Given the description of an element on the screen output the (x, y) to click on. 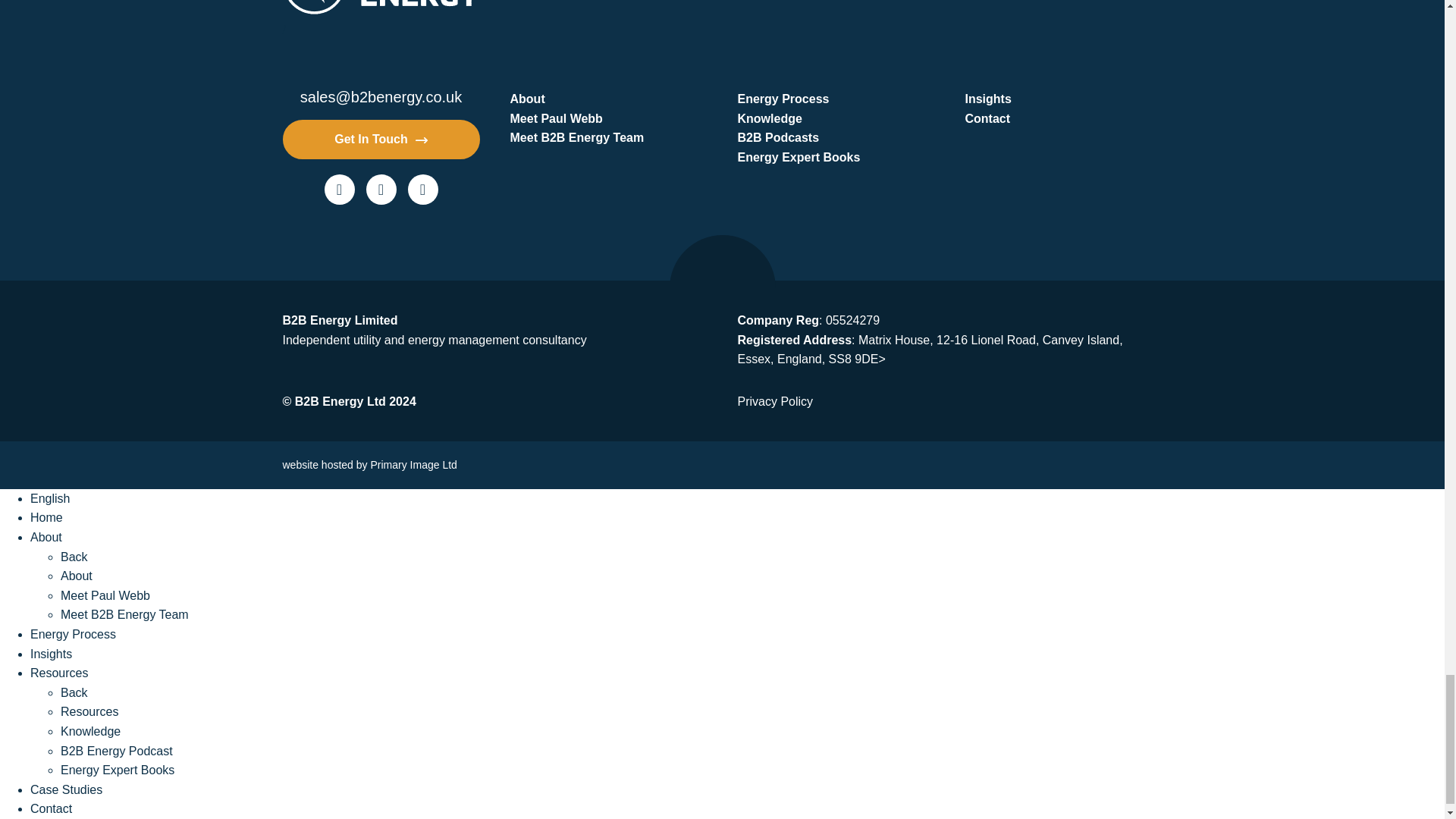
Meet B2B Energy Team (607, 137)
Back to top (721, 288)
Back to top (721, 272)
About (607, 98)
Energy Process (835, 98)
Knowledge (835, 118)
Meet Paul Webb (607, 118)
